Given the description of an element on the screen output the (x, y) to click on. 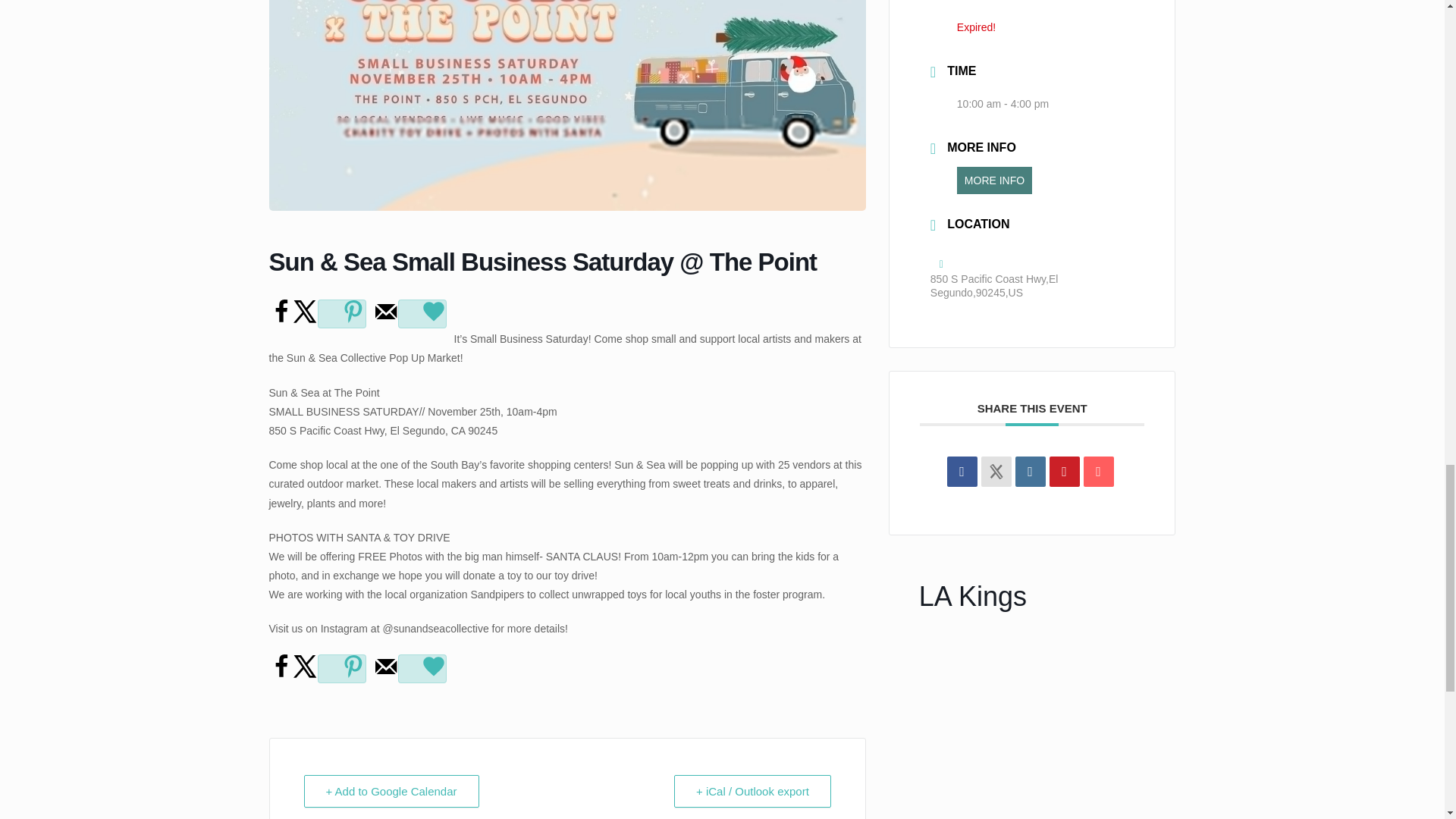
Share on X (304, 319)
Save to Pinterest (341, 668)
Share on Facebook (279, 319)
Email (1098, 471)
Share on X (304, 674)
Share on Facebook (279, 674)
Share on Facebook (961, 471)
Send over email (384, 674)
Linkedin (1029, 471)
X Social Network (996, 471)
